Given the description of an element on the screen output the (x, y) to click on. 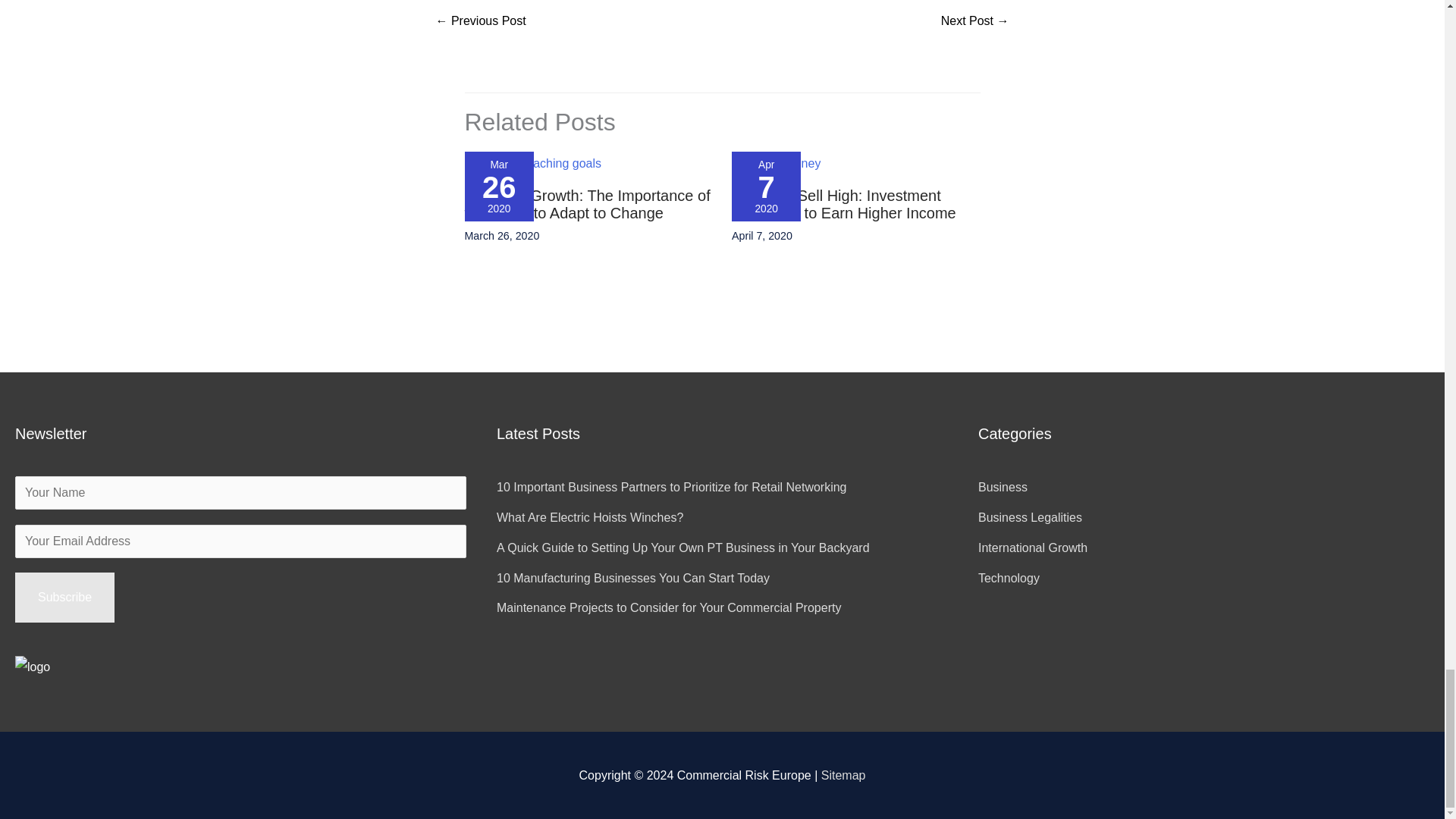
5 Tips to Start a Construction Business (480, 22)
Subscribe (64, 597)
Sitemap (843, 775)
Guide to Building Your Commercial Construction Company (974, 22)
What Are Electric Hoists Winches? (589, 517)
Technology (1008, 577)
Business (1002, 486)
Business Legalities (1029, 517)
10 Manufacturing Businesses You Can Start Today (633, 577)
Subscribe (64, 597)
